Given the description of an element on the screen output the (x, y) to click on. 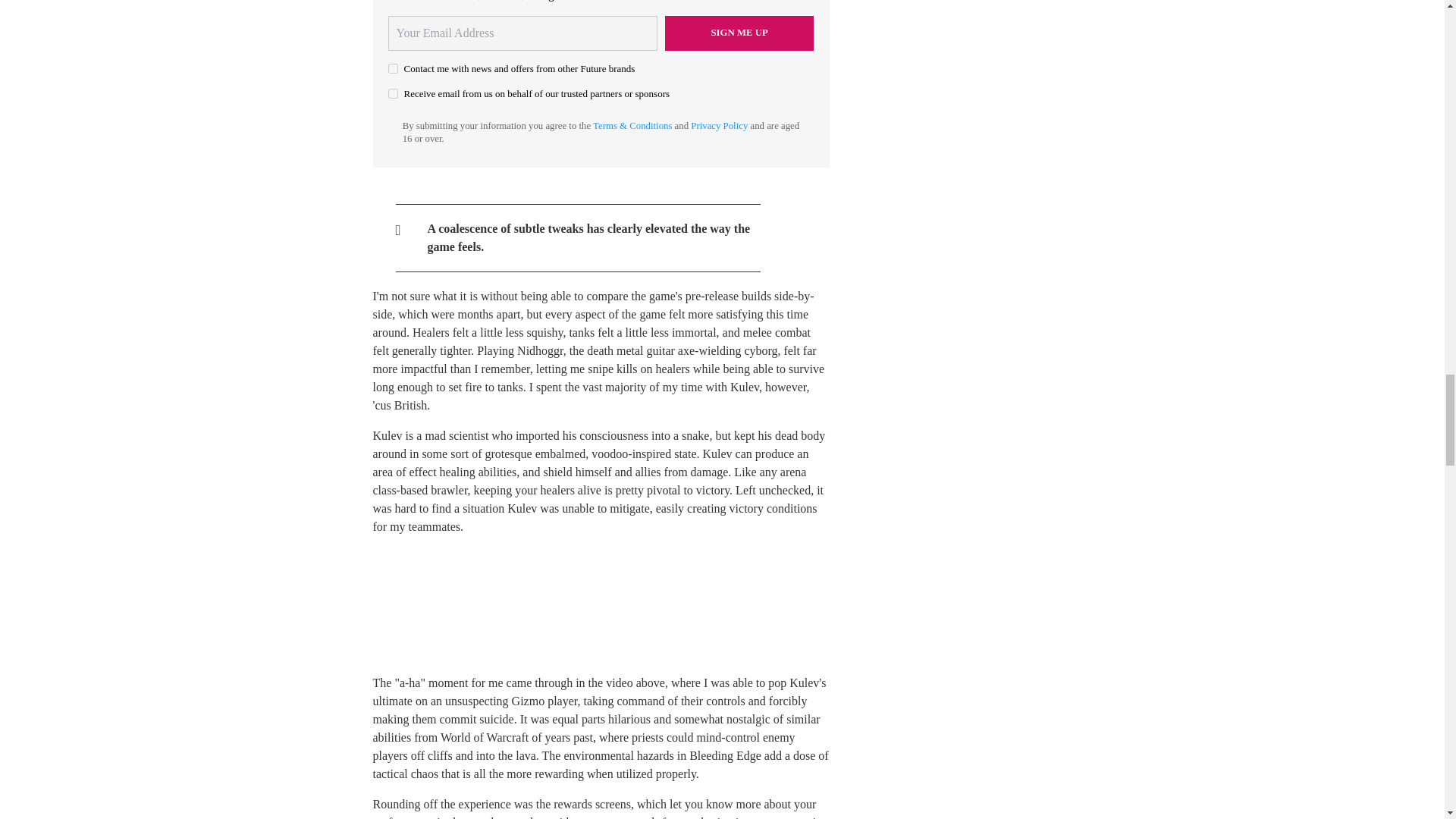
Sign me up (739, 32)
Sign me up (739, 32)
on (392, 68)
Privacy Policy (719, 125)
on (392, 93)
